Given the description of an element on the screen output the (x, y) to click on. 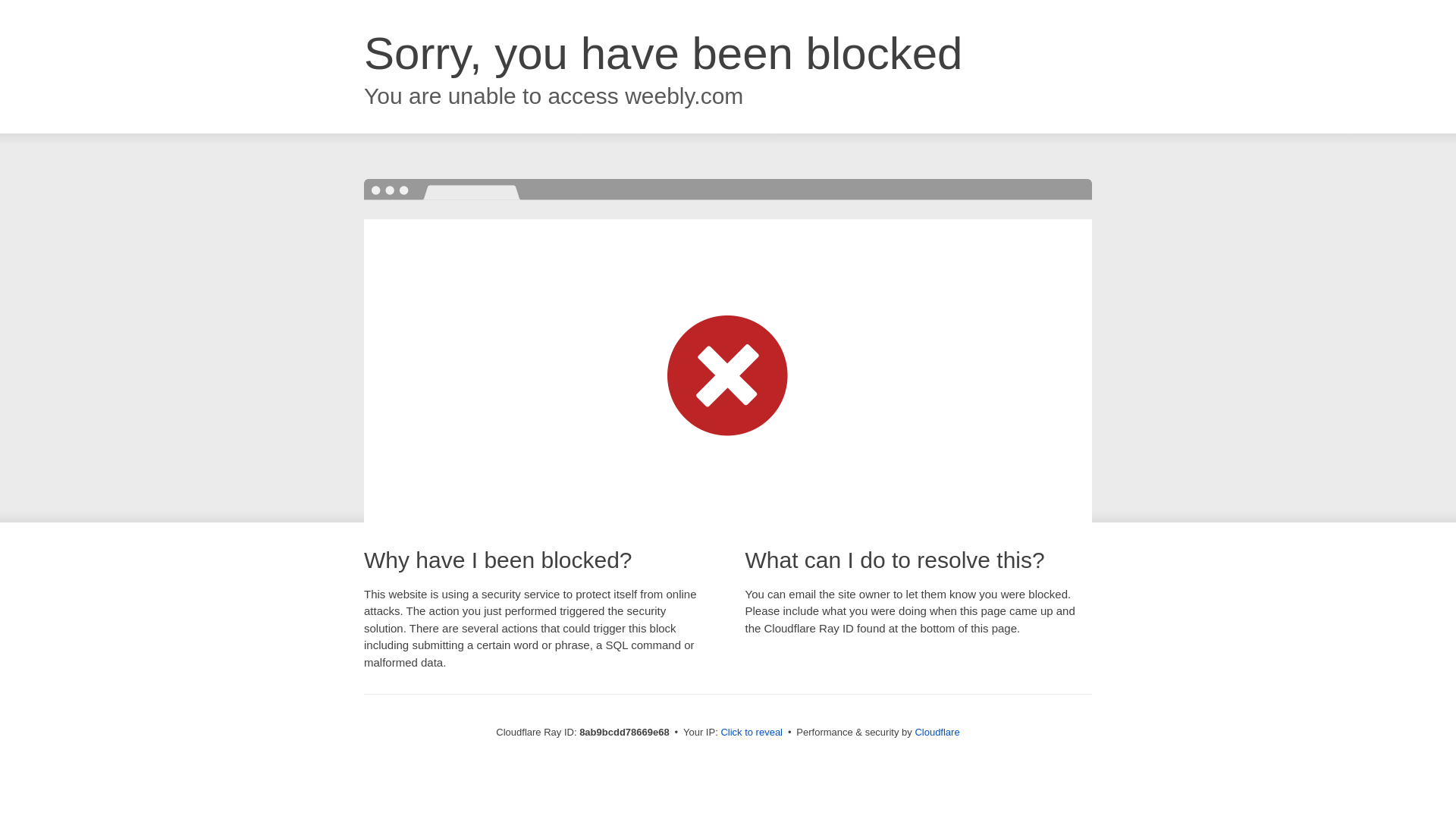
Click to reveal (751, 732)
Cloudflare (936, 731)
